Given the description of an element on the screen output the (x, y) to click on. 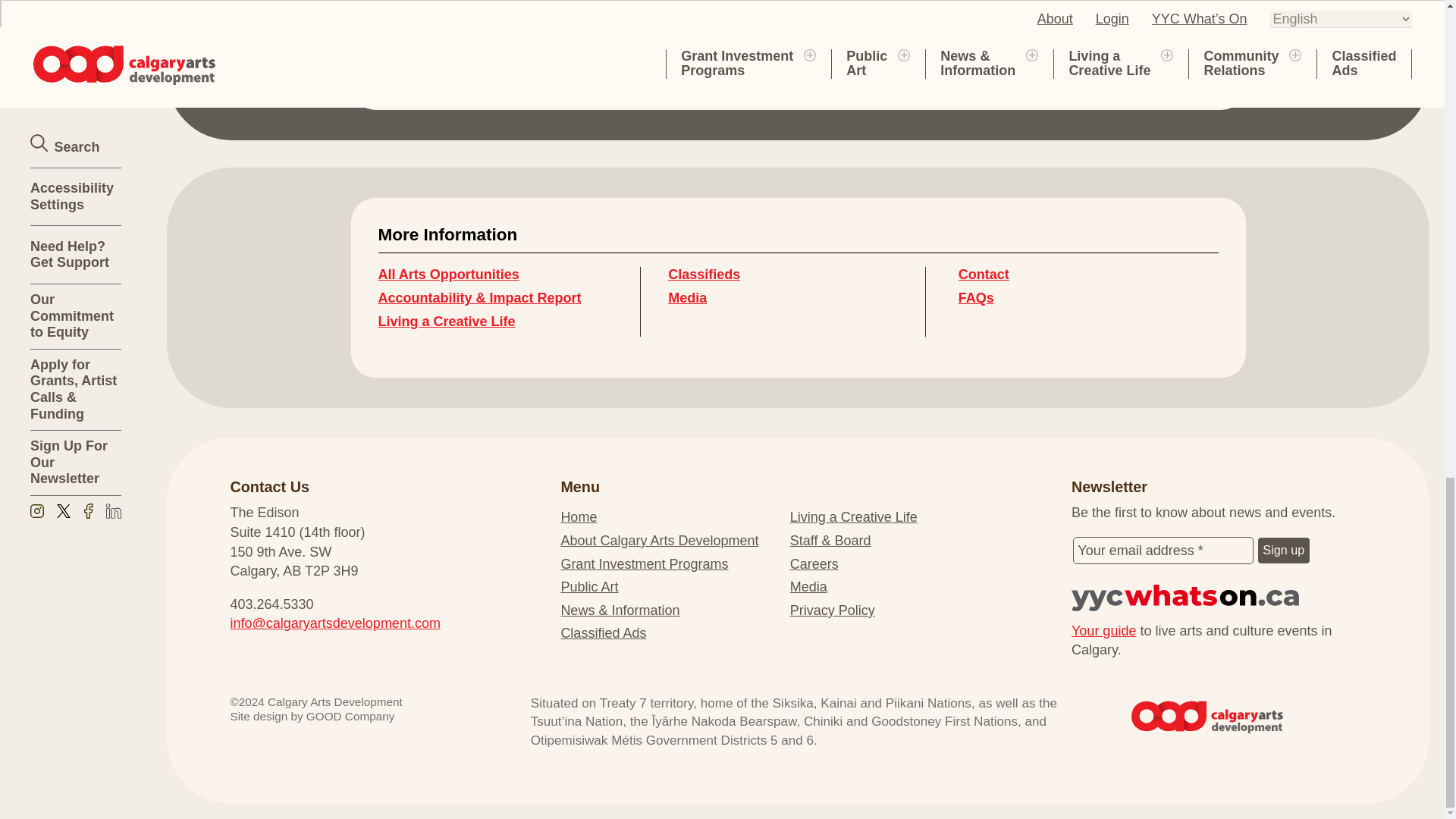
Download (484, 31)
YYC What's On (1219, 597)
